Given the description of an element on the screen output the (x, y) to click on. 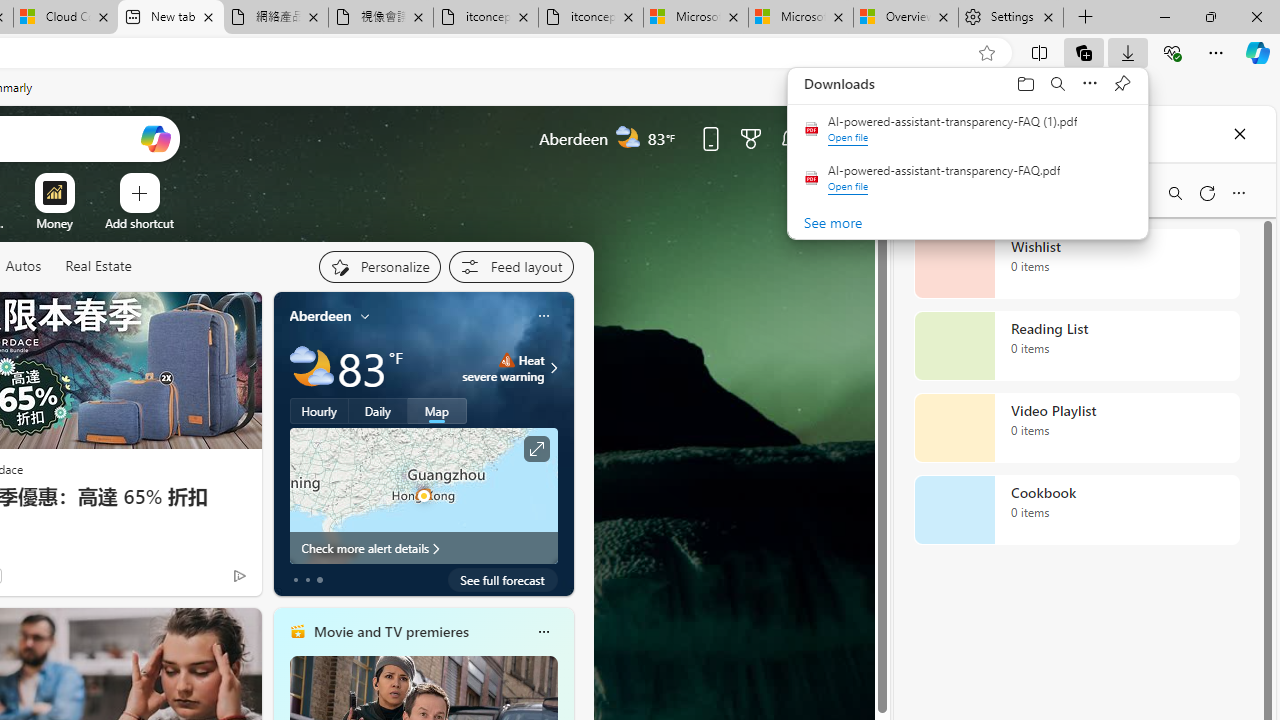
Create new collection (994, 188)
Wishlist collection, 0 items (1076, 263)
Partly cloudy (311, 368)
itconcepthk.com/projector_solutions.mp4 (590, 17)
Partly cloudy (311, 368)
Notifications (790, 138)
tab-0 (295, 579)
Real Estate (98, 265)
Microsoft rewards (750, 138)
Aberdeen (320, 315)
